Given the description of an element on the screen output the (x, y) to click on. 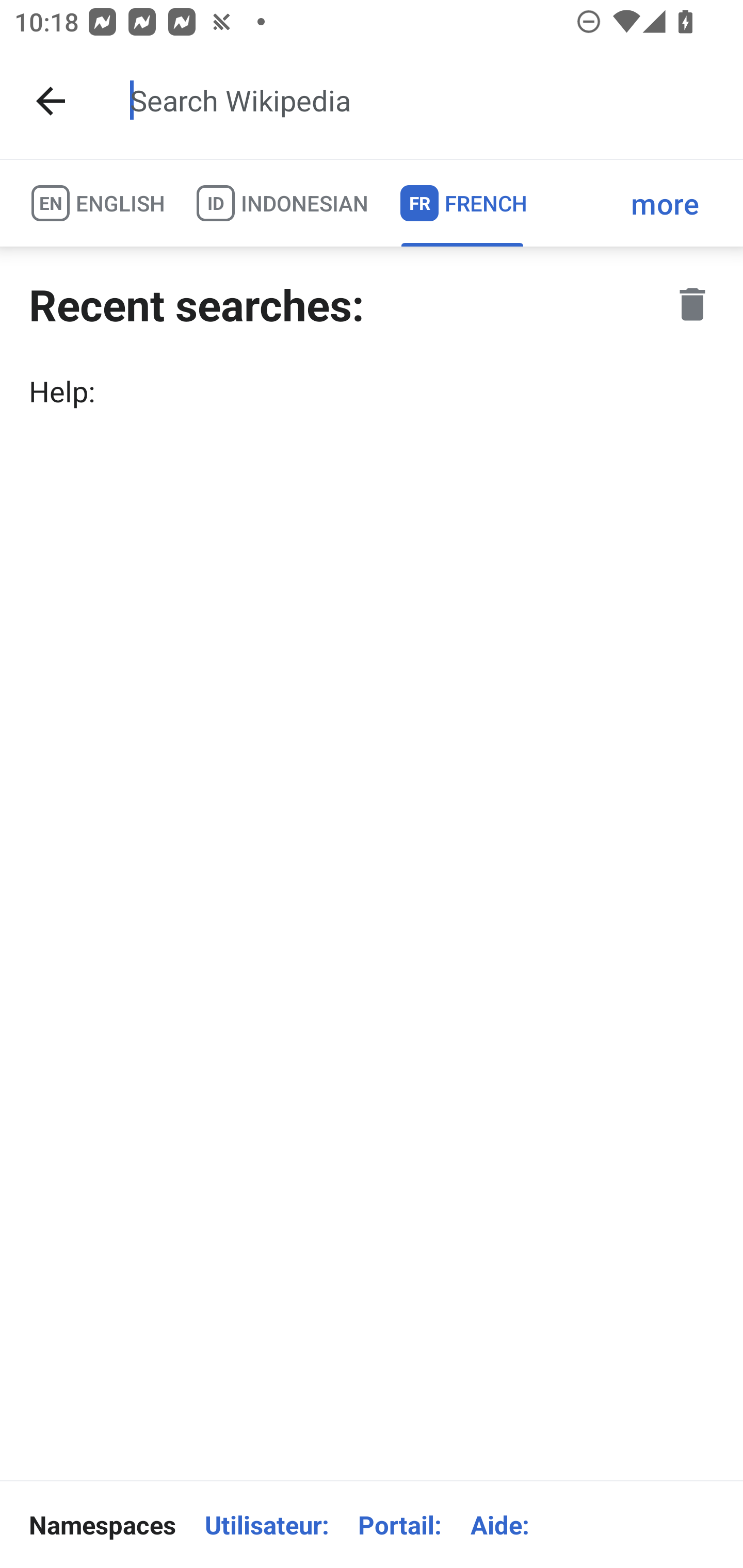
Navigate up (50, 101)
Search Wikipedia (420, 100)
EN ENGLISH (96, 202)
ID INDONESIAN (281, 202)
more (664, 202)
Clear history (692, 304)
Help: (371, 391)
Namespaces (102, 1524)
Utilisateur: (266, 1524)
Portail: (399, 1524)
Aide: (499, 1524)
